Given the description of an element on the screen output the (x, y) to click on. 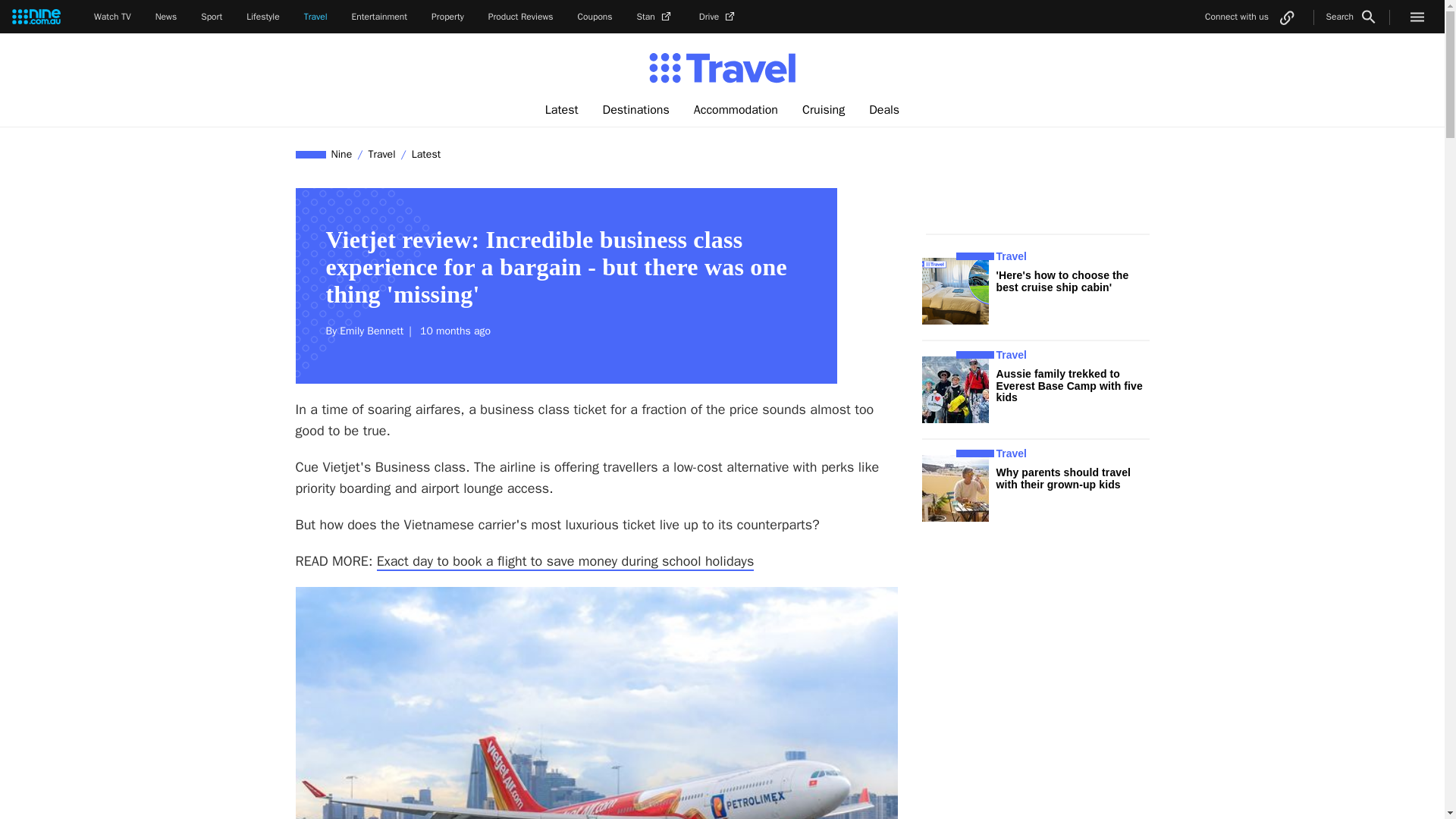
Latest (425, 154)
Lifestyle (262, 16)
Drive (718, 16)
Destinations (636, 109)
Property (447, 16)
Accommodation (735, 109)
Entertainment (379, 16)
Cruising (823, 109)
Product Reviews (520, 16)
Watch TV (112, 16)
Nine (342, 154)
Travel (381, 154)
Latest (561, 109)
Coupons (595, 16)
